Given the description of an element on the screen output the (x, y) to click on. 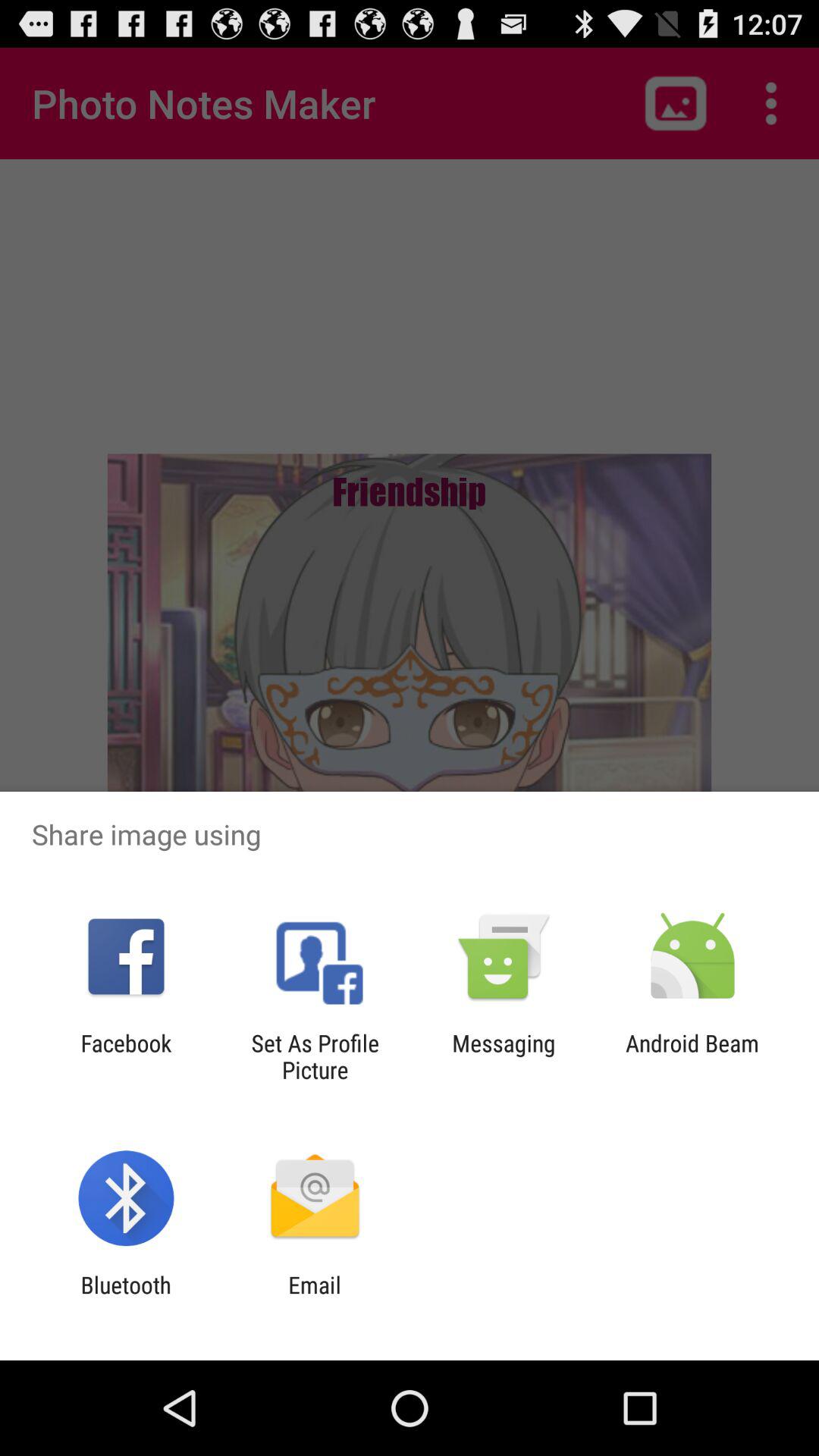
press icon at the bottom right corner (692, 1056)
